Given the description of an element on the screen output the (x, y) to click on. 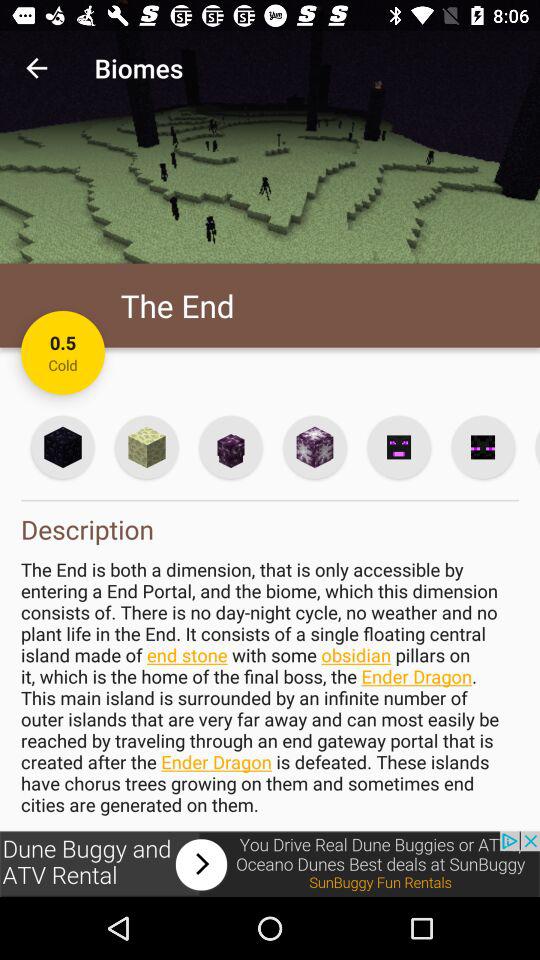
go to the advertising website (270, 864)
